Given the description of an element on the screen output the (x, y) to click on. 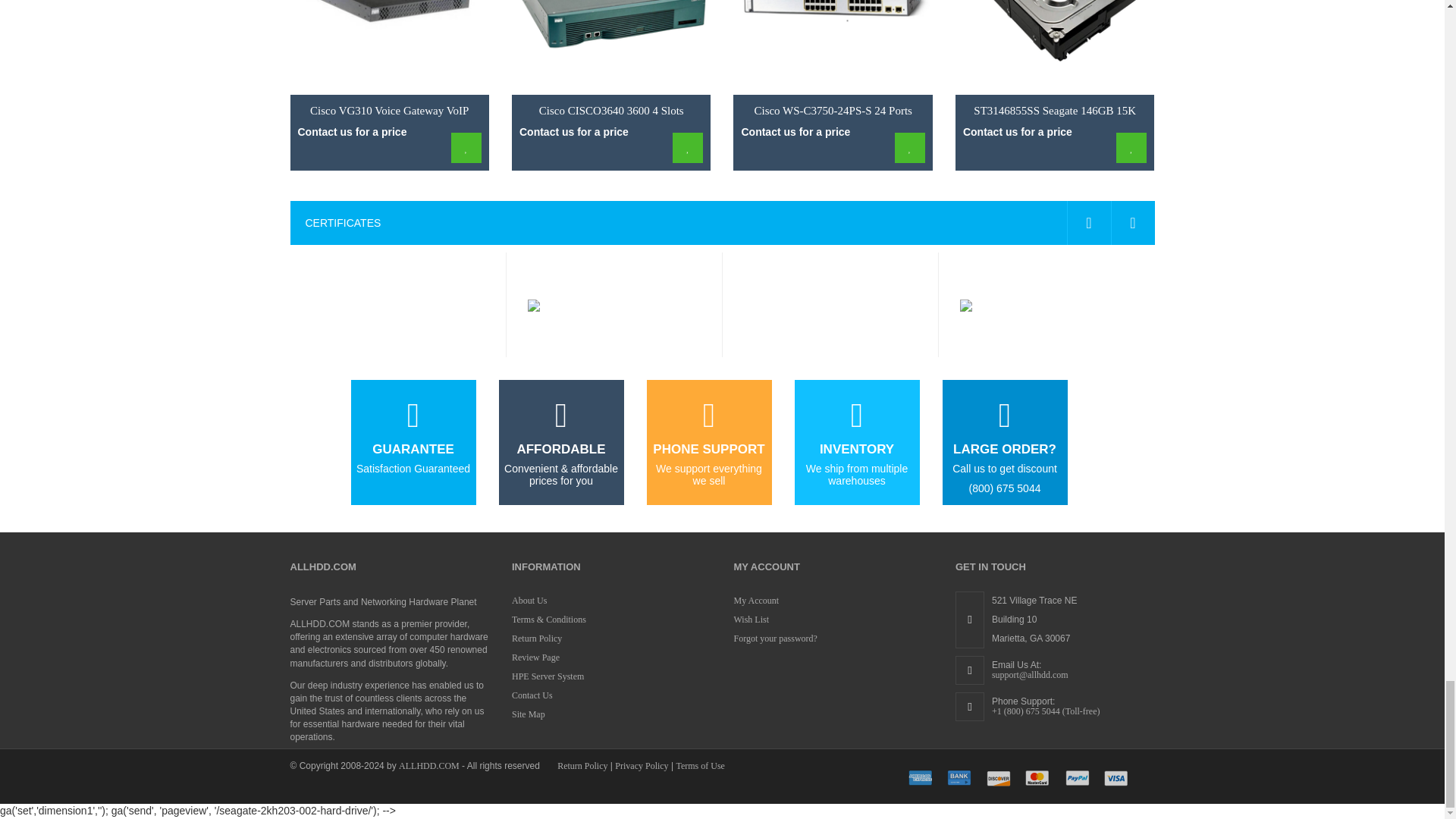
Add to Wishlist (1131, 147)
Seagate ST3146855SS 146GB Hard Disk Drive (1054, 47)
Cisco WS-C3750-24PS-S Managed Switch (832, 47)
Cisco VG310 VoIP Phone Adapter (388, 47)
Add to Wishlist (466, 147)
Cisco CISCO3640 4 Slot Networking Router (611, 47)
Add to Wishlist (909, 147)
Add to Wishlist (687, 147)
